Given the description of an element on the screen output the (x, y) to click on. 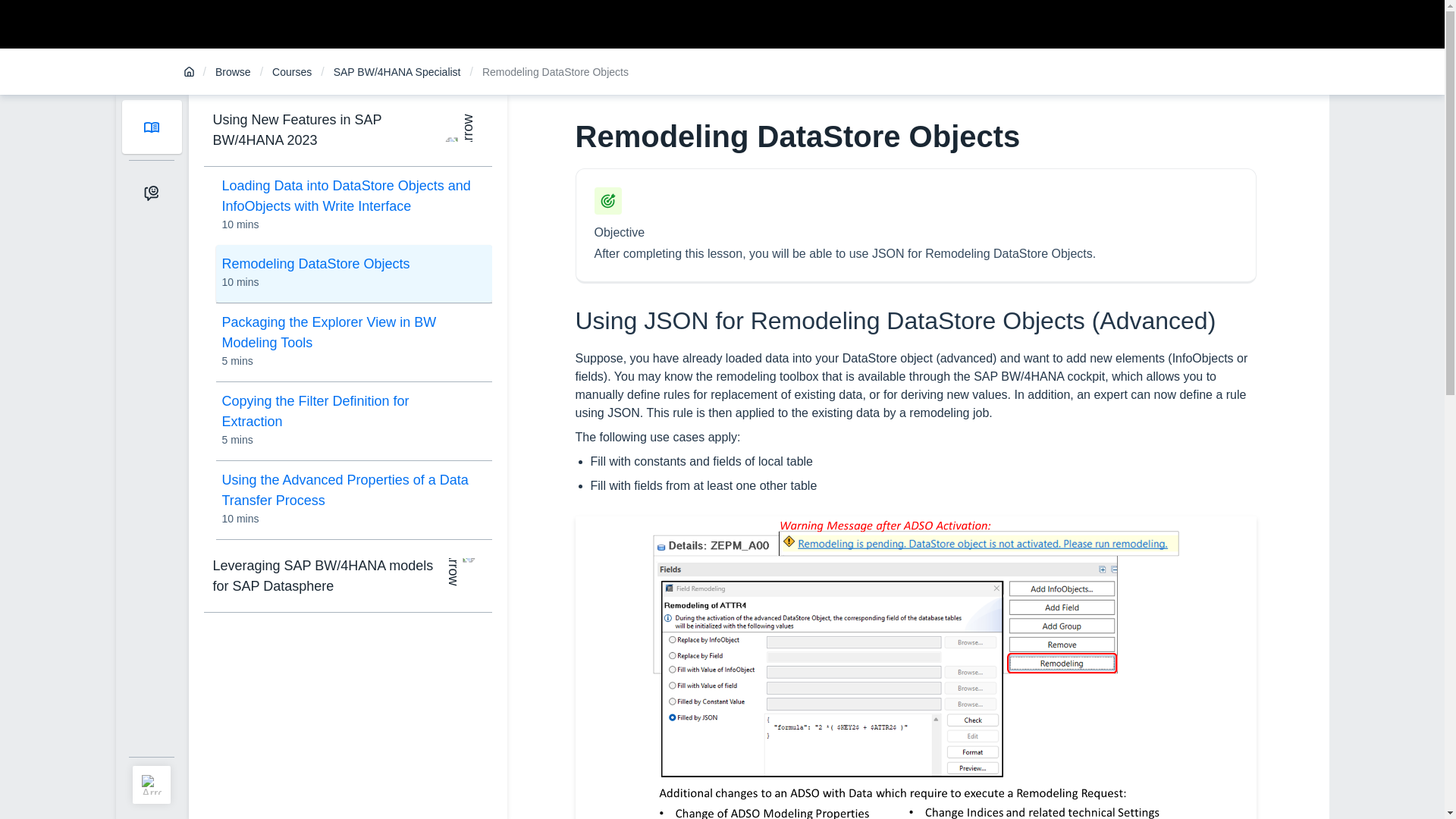
Courses (291, 72)
Browse (232, 72)
Browse (232, 72)
Courses (351, 271)
Remodeling DataStore Objects (291, 72)
